Given the description of an element on the screen output the (x, y) to click on. 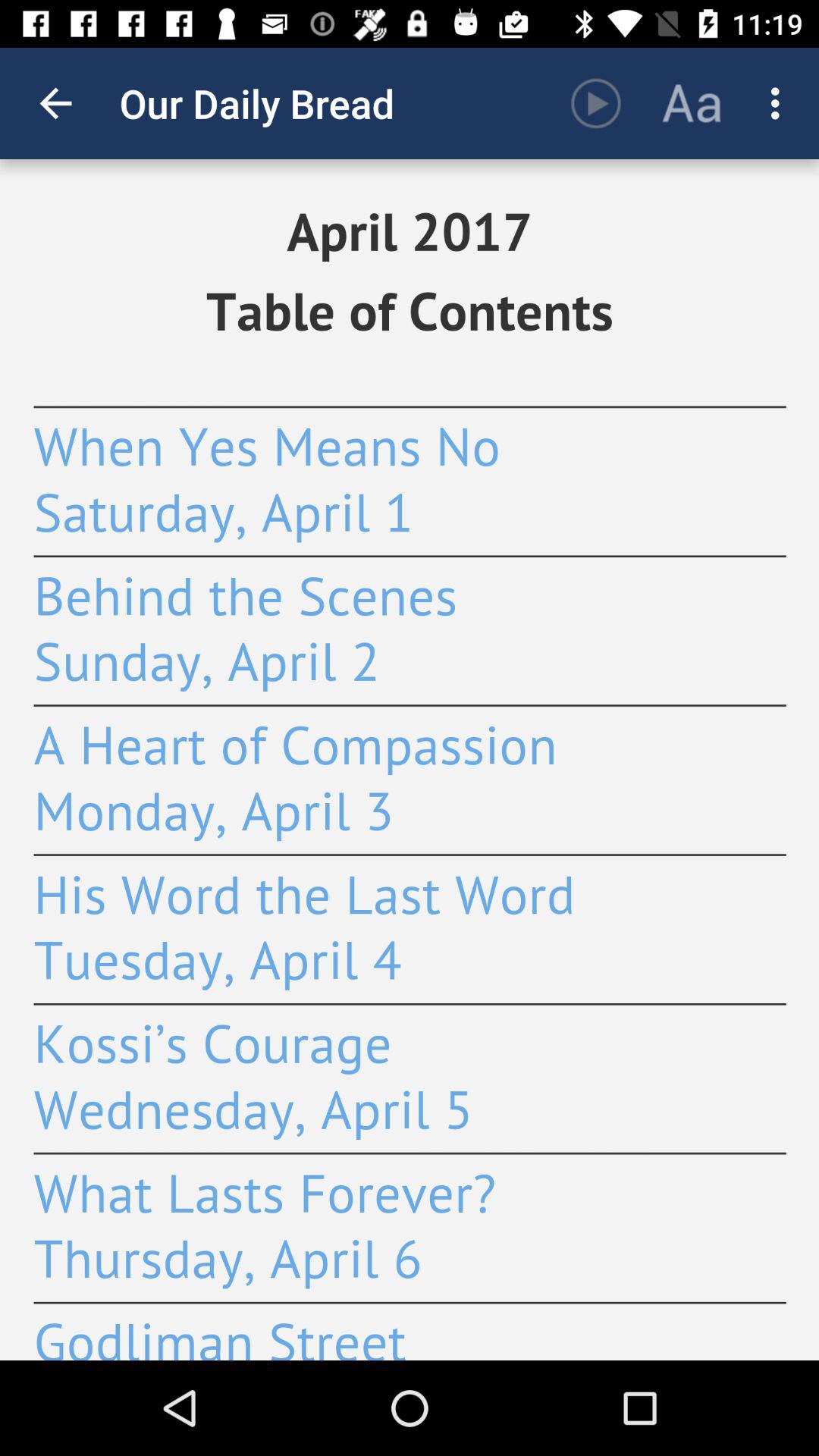
launch app to the left of the our daily bread (55, 103)
